Given the description of an element on the screen output the (x, y) to click on. 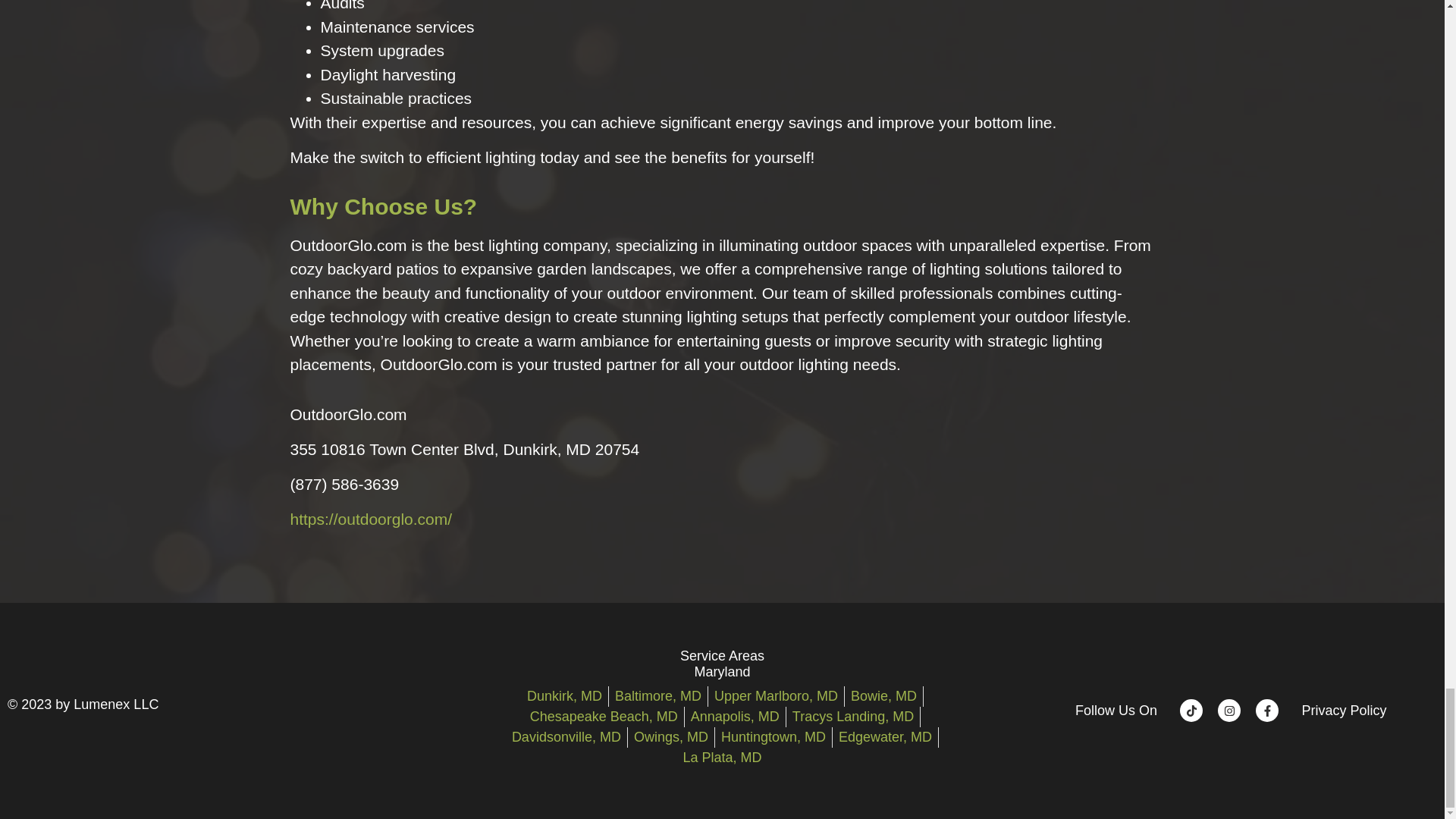
Dunkirk, MD (564, 696)
Upper Marlboro, MD (776, 696)
Baltimore, MD (657, 696)
